Given the description of an element on the screen output the (x, y) to click on. 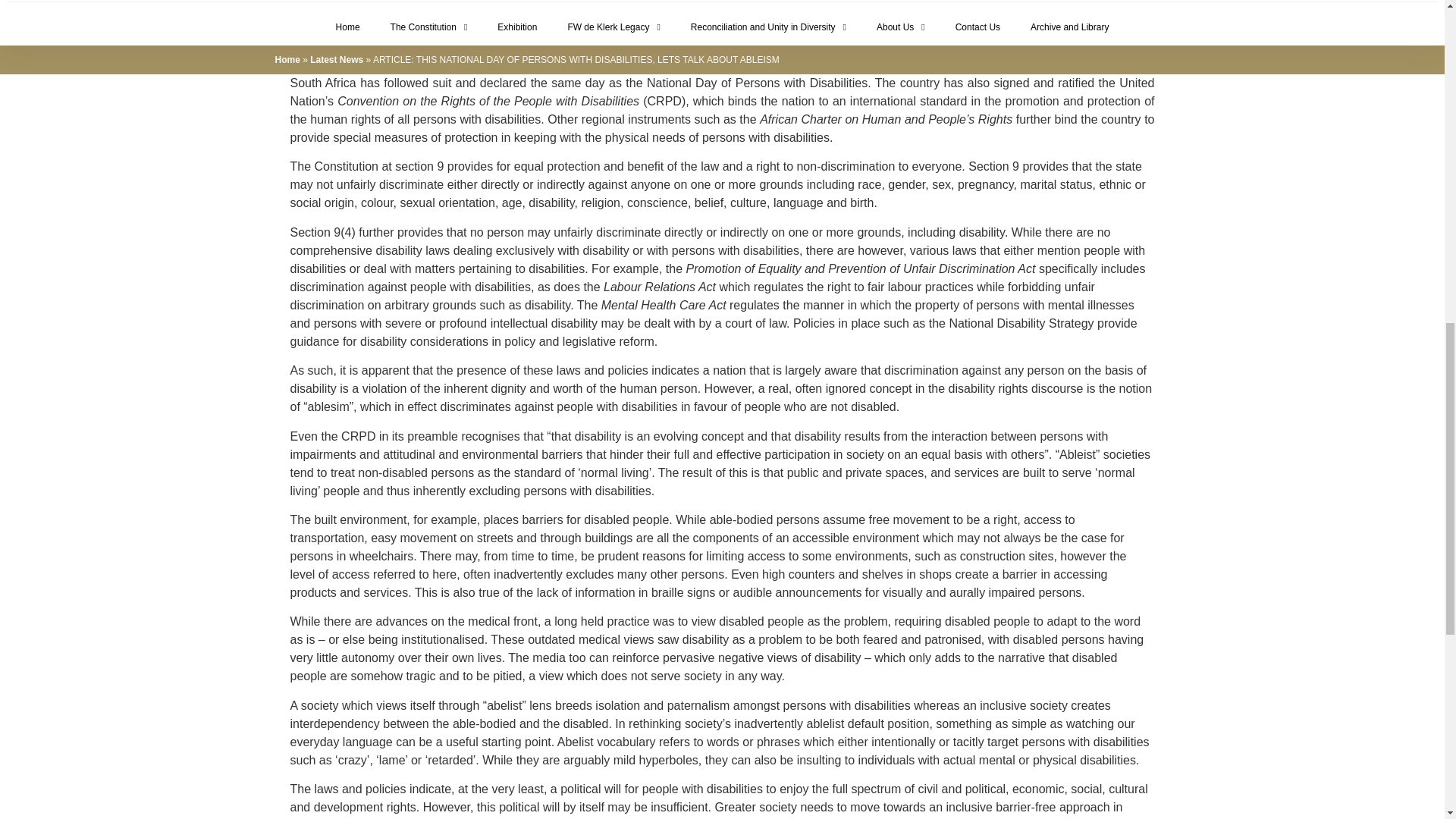
Reconciliation and Unity in Diversity (768, 27)
FW de Klerk Legacy (613, 27)
Archive and Library (1069, 27)
Home (347, 27)
About Us (900, 27)
Exhibition (516, 27)
The Constitution (429, 27)
Contact Us (977, 27)
